Given the description of an element on the screen output the (x, y) to click on. 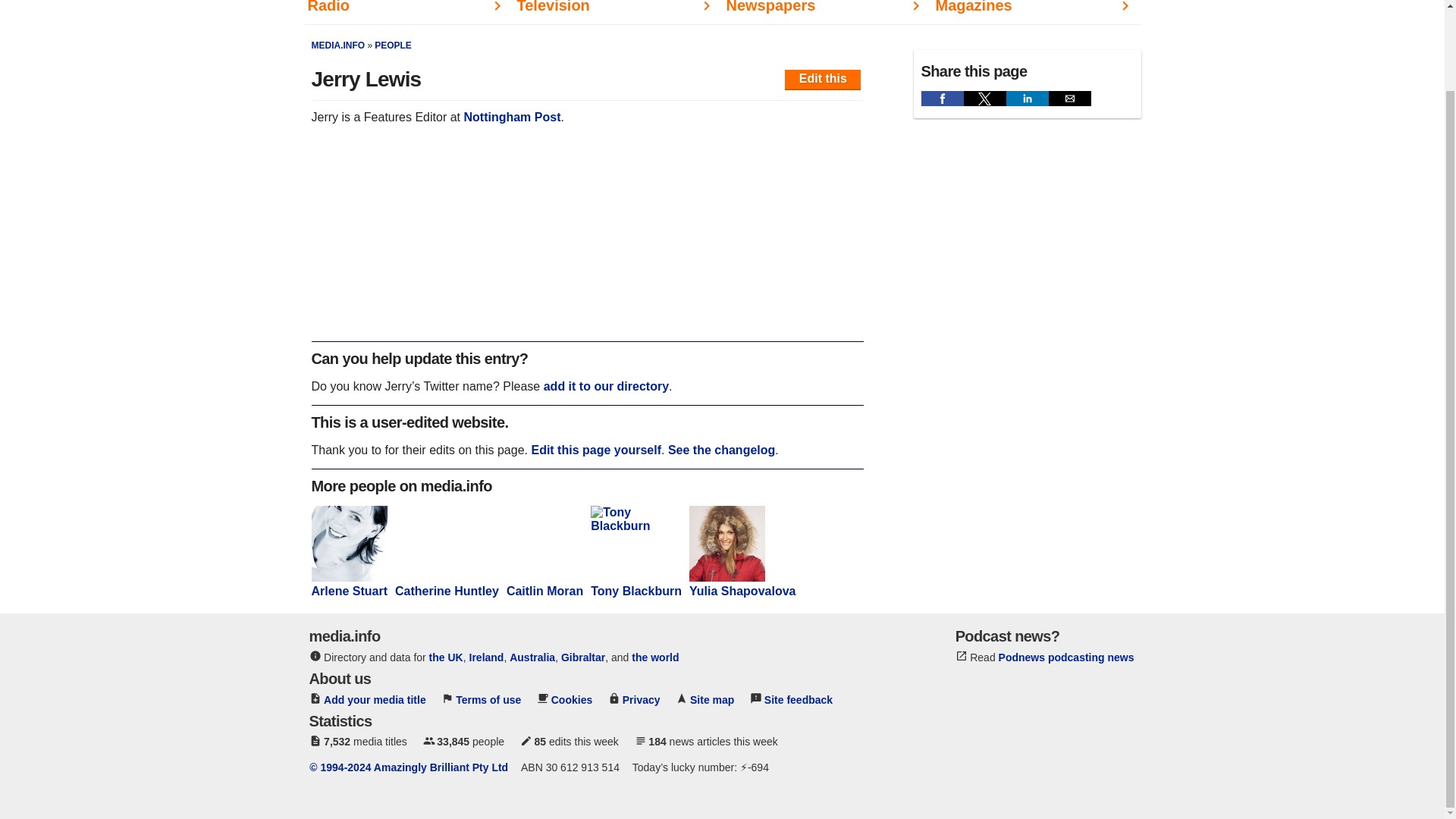
Privacy (642, 699)
Arlene Stuart (349, 583)
Magazines (1035, 12)
Terms of use (488, 699)
Ireland (485, 657)
Site feedback (798, 699)
Radio (407, 12)
Edit this (823, 78)
add it to our directory (605, 386)
Newspapers (826, 12)
the world (654, 657)
Catherine Huntley (446, 583)
PEOPLE (393, 45)
Caitlin Moran (544, 583)
MEDIA.INFO (338, 45)
